Given the description of an element on the screen output the (x, y) to click on. 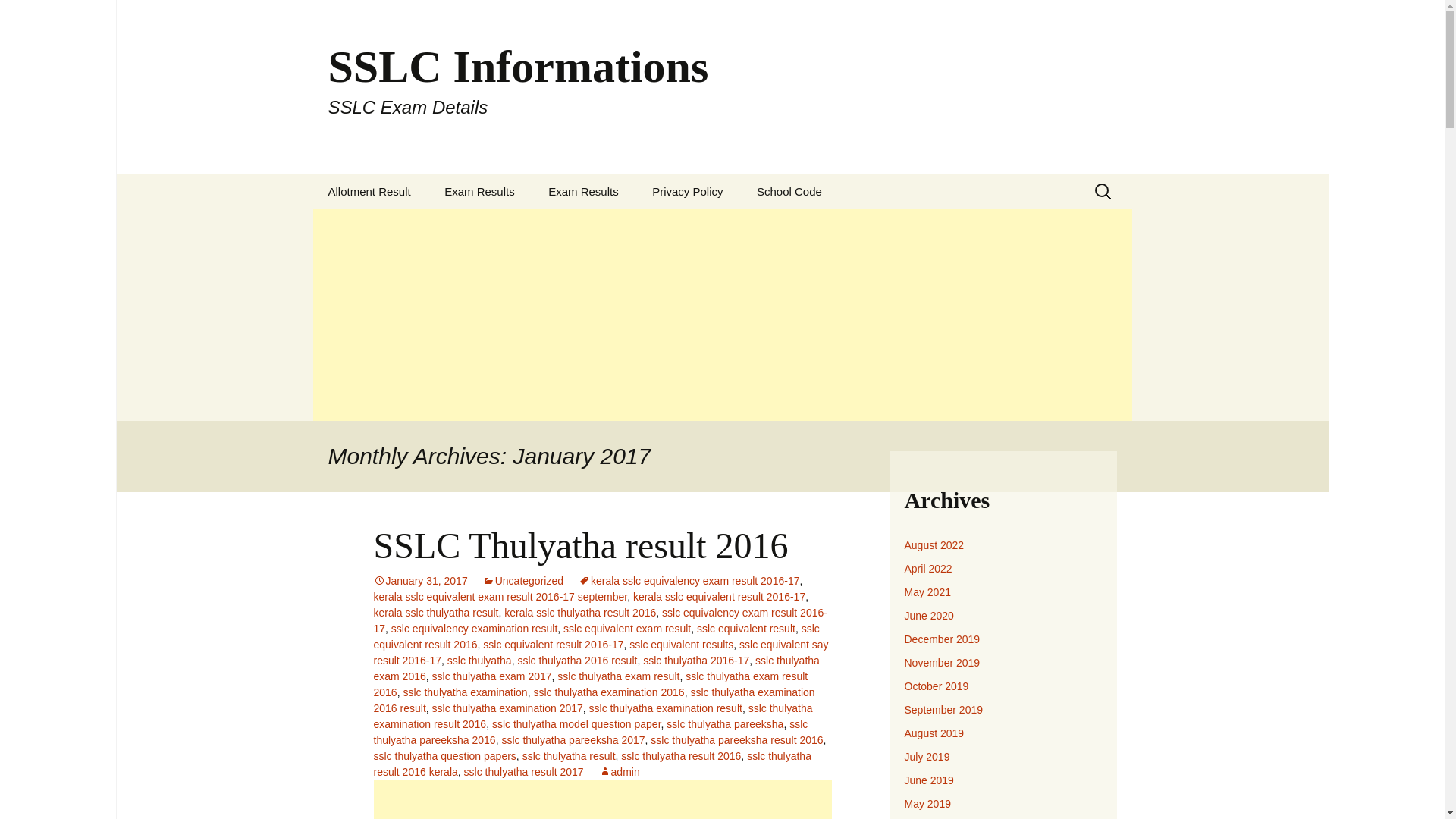
January 31, 2017 (419, 580)
sslc thulyatha exam 2017 (491, 676)
Privacy Policy (687, 191)
kerala sslc equivalent result 2016-17 (719, 596)
Permalink to SSLC Thulyatha result 2016 (419, 580)
sslc thulyatha pareeksha (724, 724)
sslc thulyatha 2016 result (576, 660)
sslc thulyatha exam result (618, 676)
sslc equivalent results (680, 644)
sslc equivalency examination result (474, 628)
sslc equivalent result (745, 628)
sslc equivalent exam result (626, 628)
sslc thulyatha exam 2016 (595, 668)
sslc thulyatha (479, 660)
